Given the description of an element on the screen output the (x, y) to click on. 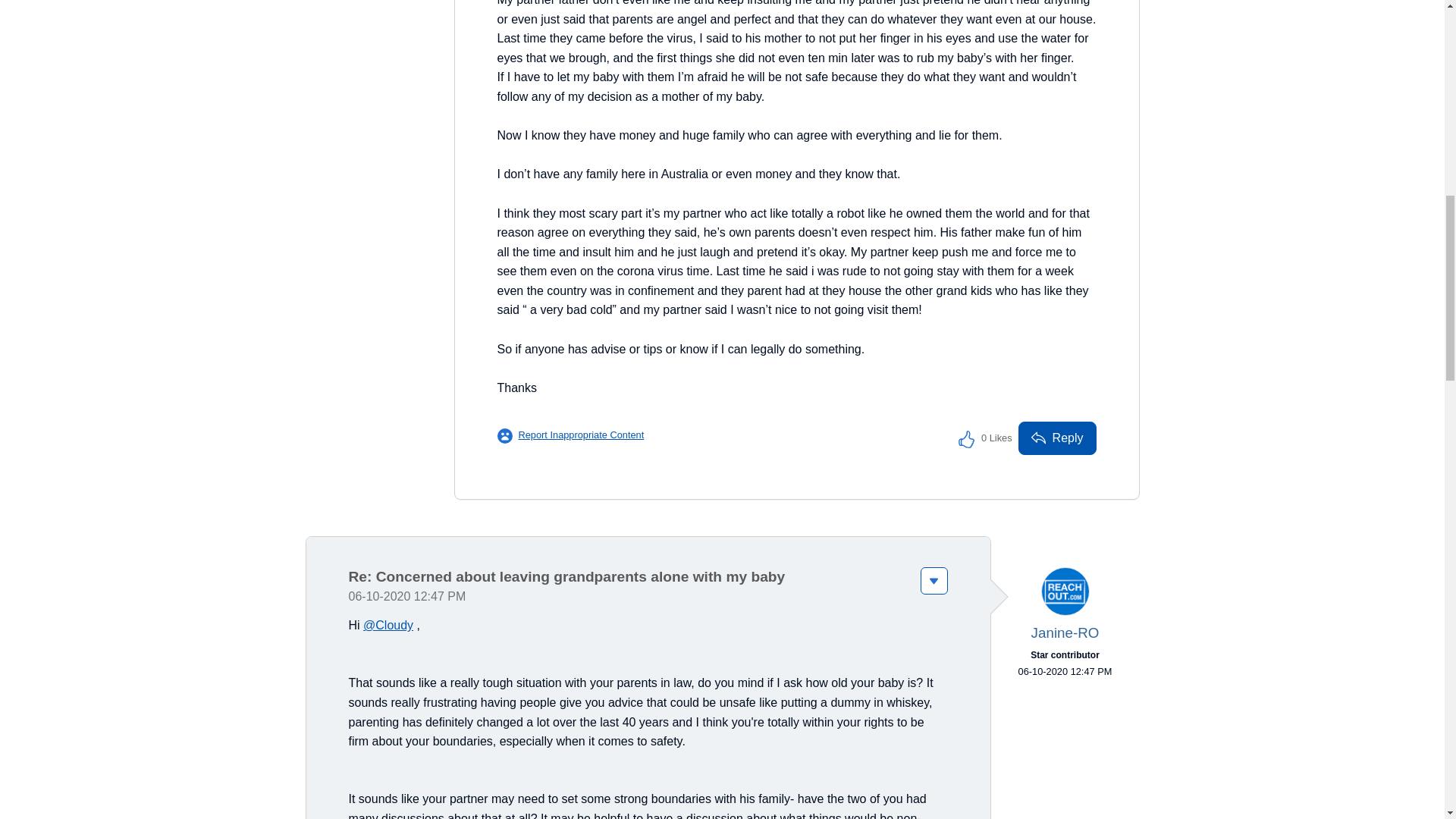
Click here to give likes to this post. (965, 437)
The total number of likes this post has received. (996, 438)
Show option menu (933, 580)
Janine-RO (1065, 591)
Posted on (1064, 671)
